Given the description of an element on the screen output the (x, y) to click on. 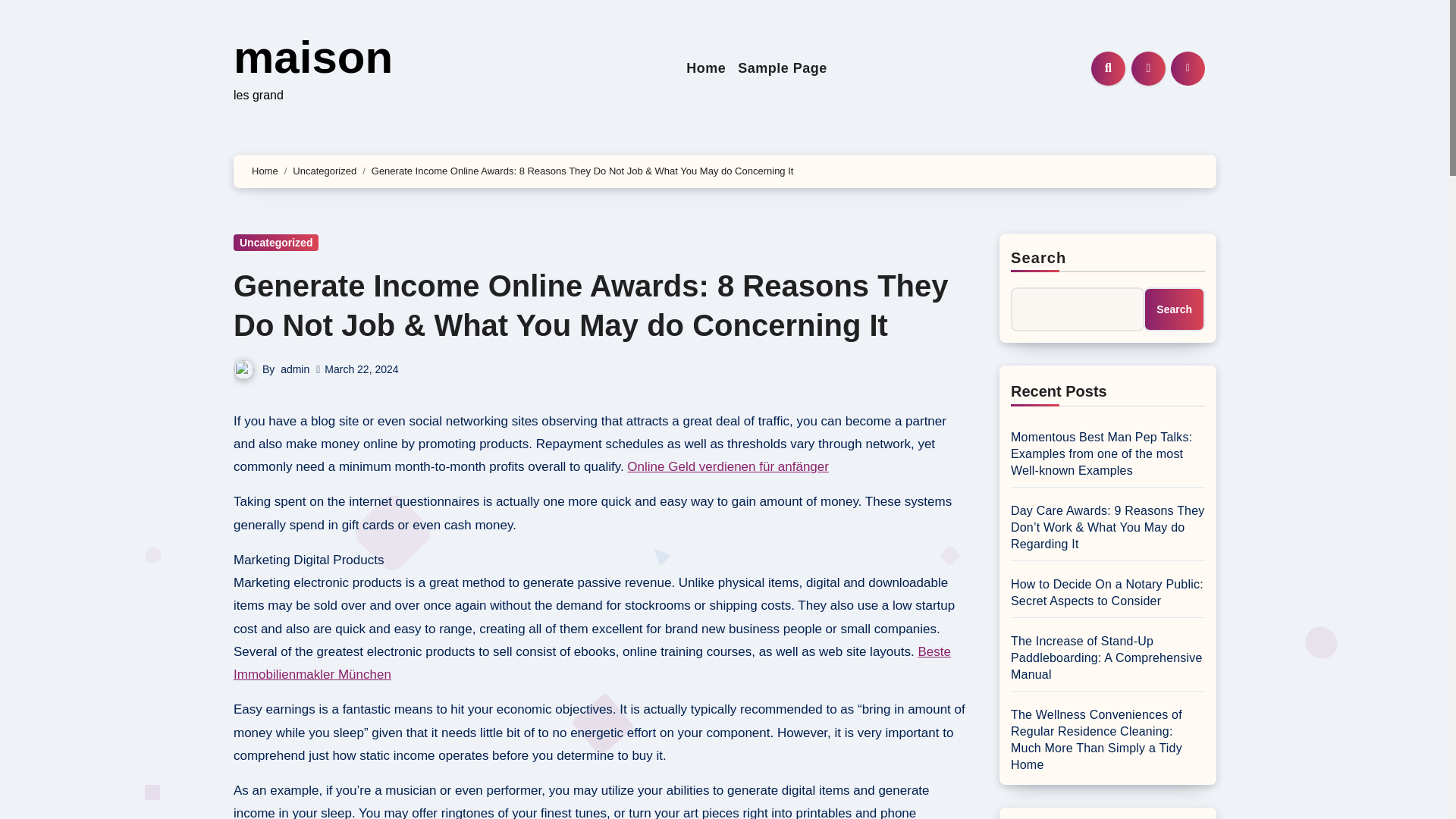
Home (705, 67)
Uncategorized (324, 170)
admin (294, 369)
Uncategorized (275, 242)
Sample Page (782, 67)
March 22, 2024 (360, 369)
maison (312, 56)
Home (264, 170)
Home (705, 67)
